Given the description of an element on the screen output the (x, y) to click on. 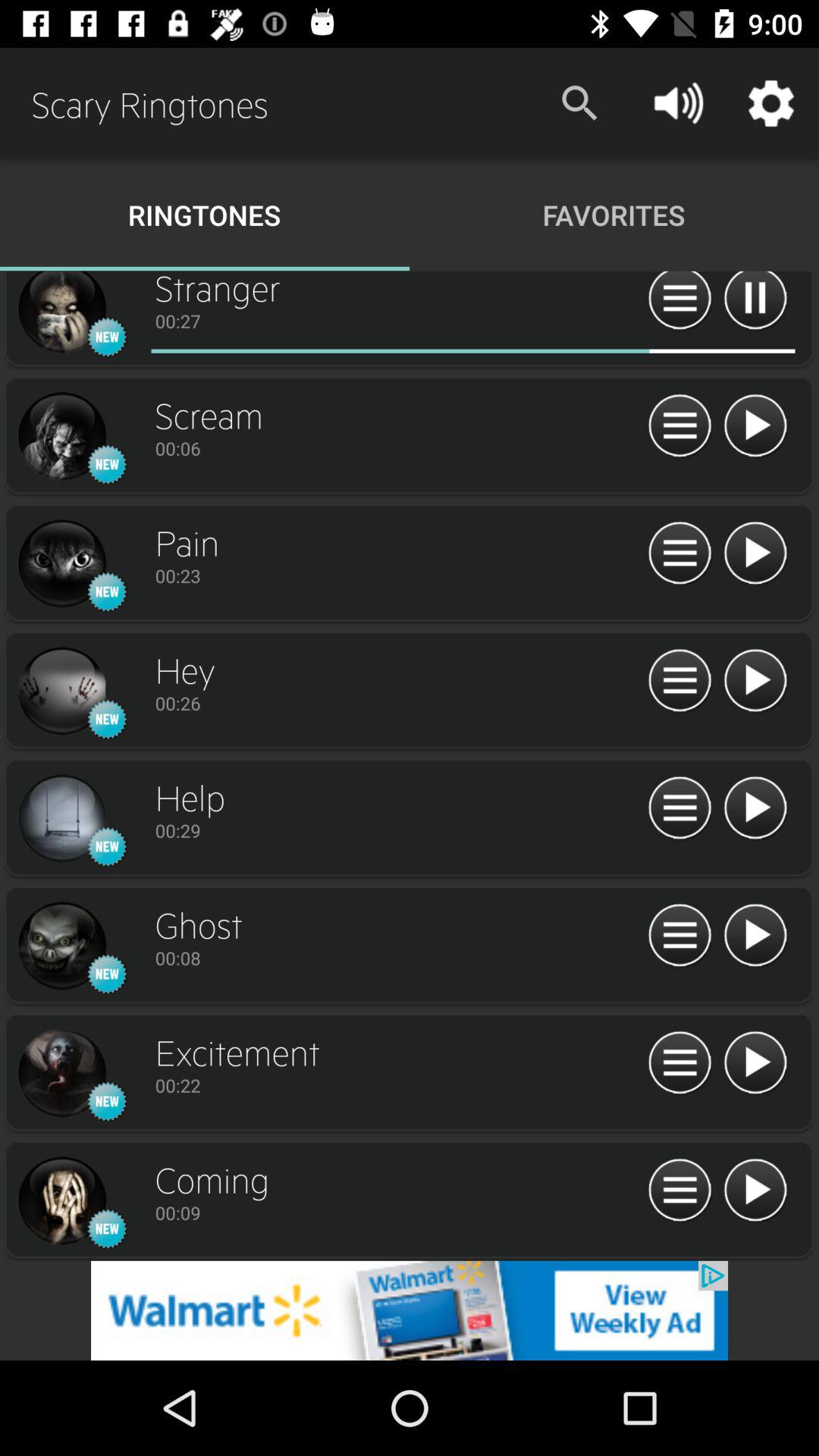
pause (755, 302)
